Given the description of an element on the screen output the (x, y) to click on. 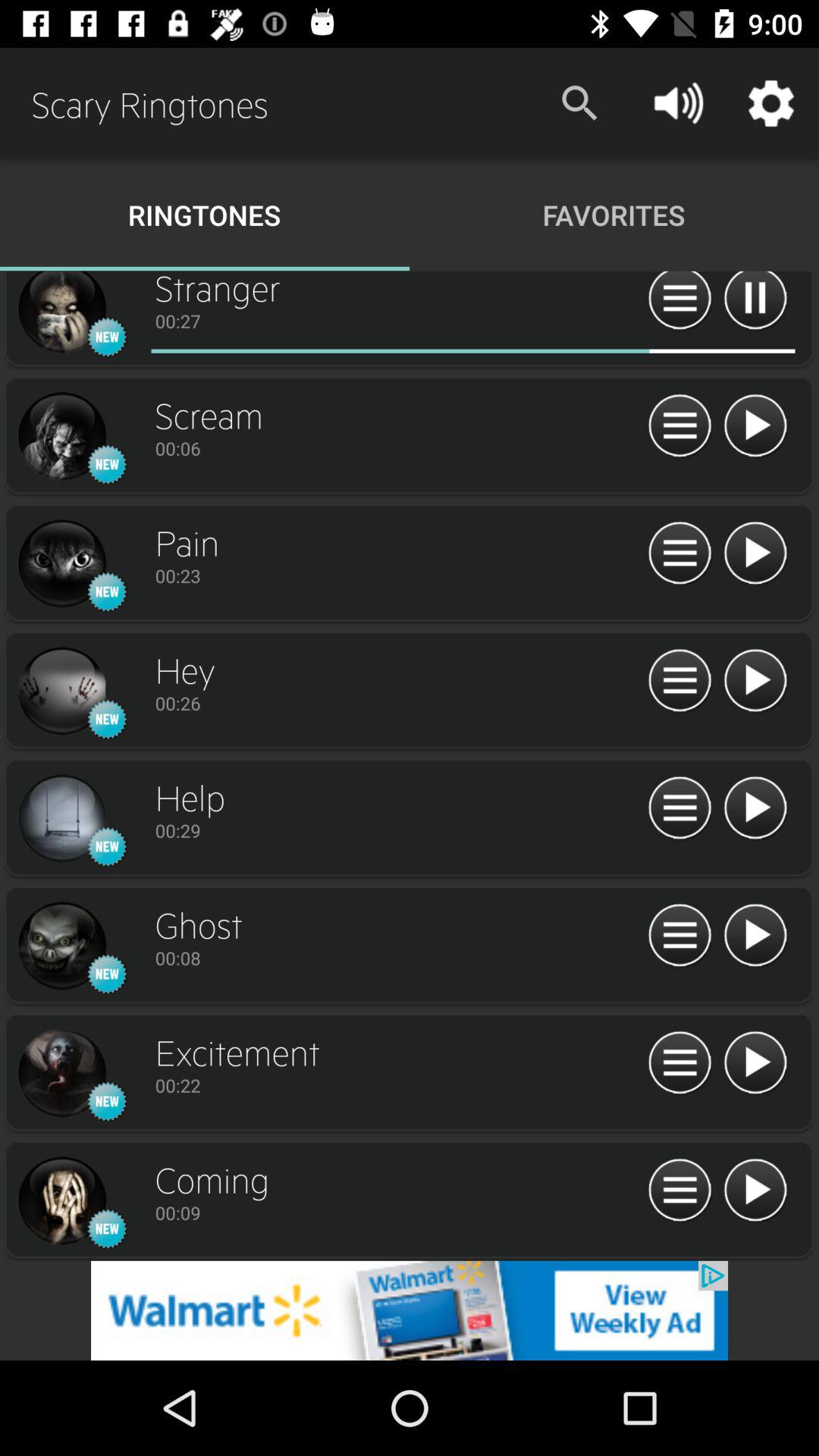
pause (755, 302)
